Given the description of an element on the screen output the (x, y) to click on. 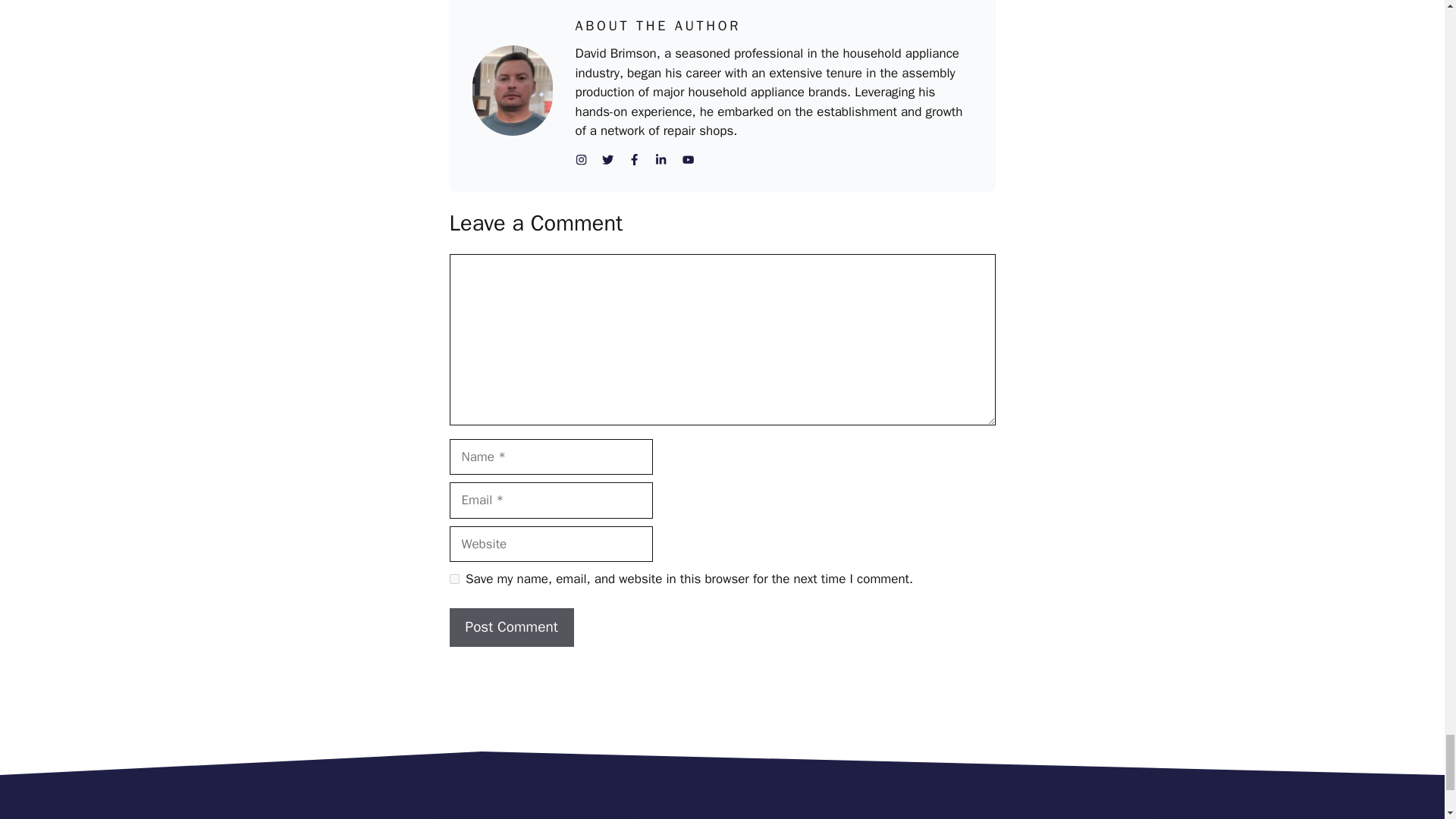
yes (453, 578)
Post Comment (510, 627)
